Given the description of an element on the screen output the (x, y) to click on. 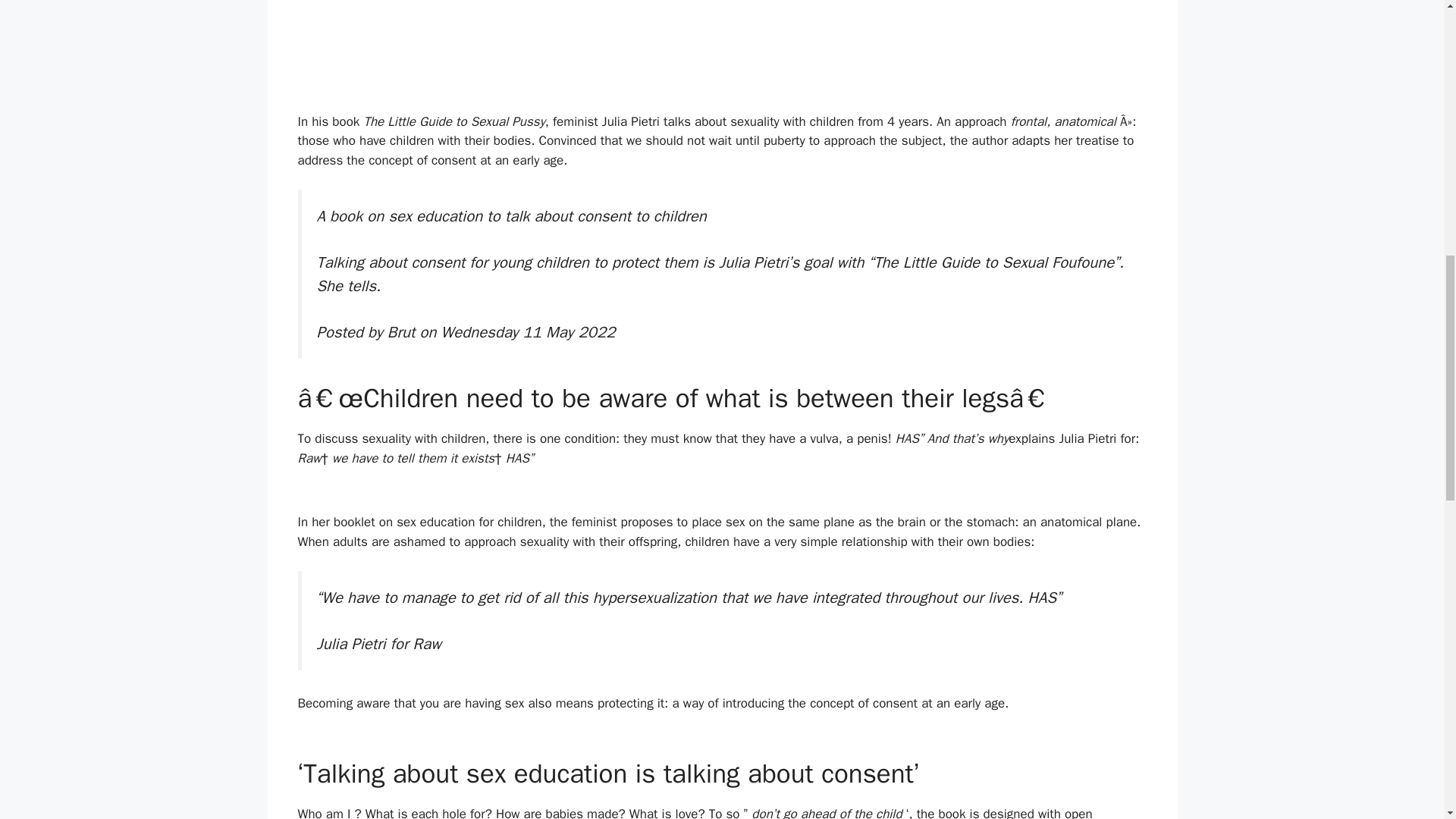
Advertisement (722, 53)
